Given the description of an element on the screen output the (x, y) to click on. 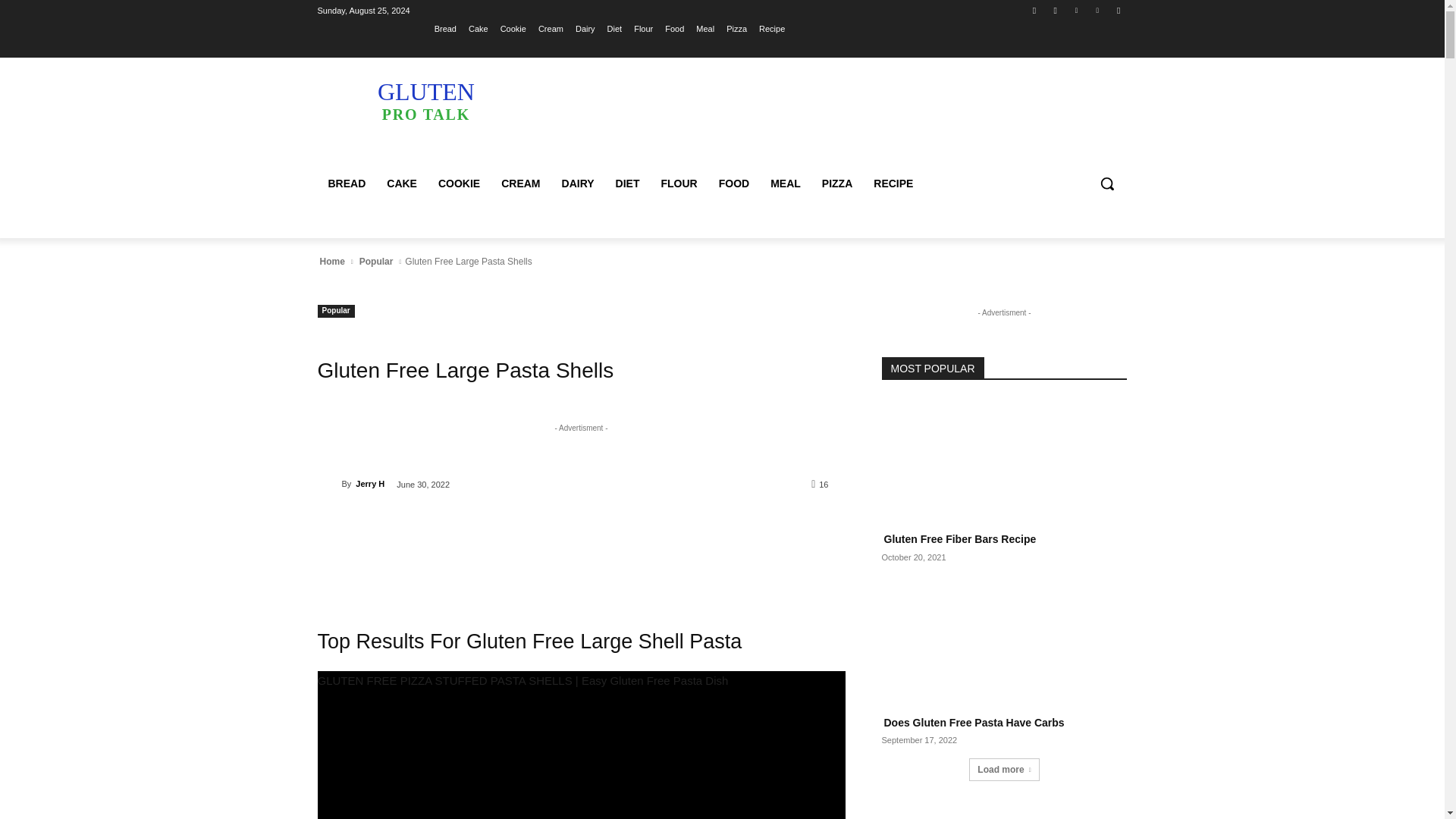
Vimeo (1097, 9)
CAKE (401, 183)
Pizza (736, 28)
View all posts in Popular (376, 261)
Twitter (1075, 9)
Dairy (585, 28)
Jerry H (328, 483)
Instagram (425, 100)
Facebook (1055, 9)
